Given the description of an element on the screen output the (x, y) to click on. 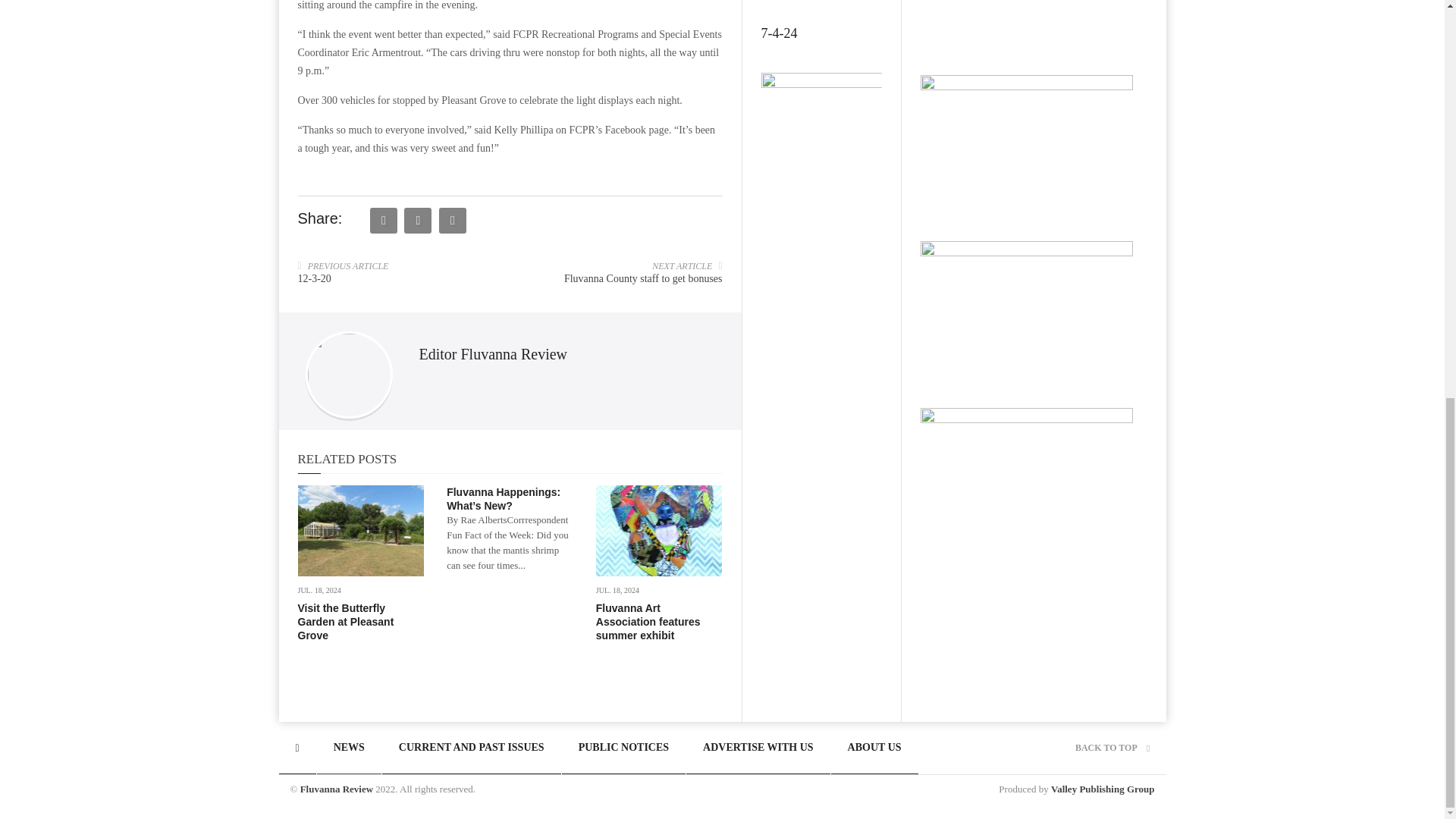
12-3-20 (313, 278)
BACK TO TOP (1112, 747)
Fluvanna County staff to get bonuses (643, 278)
Posts by Editor Fluvanna Review (493, 353)
